Given the description of an element on the screen output the (x, y) to click on. 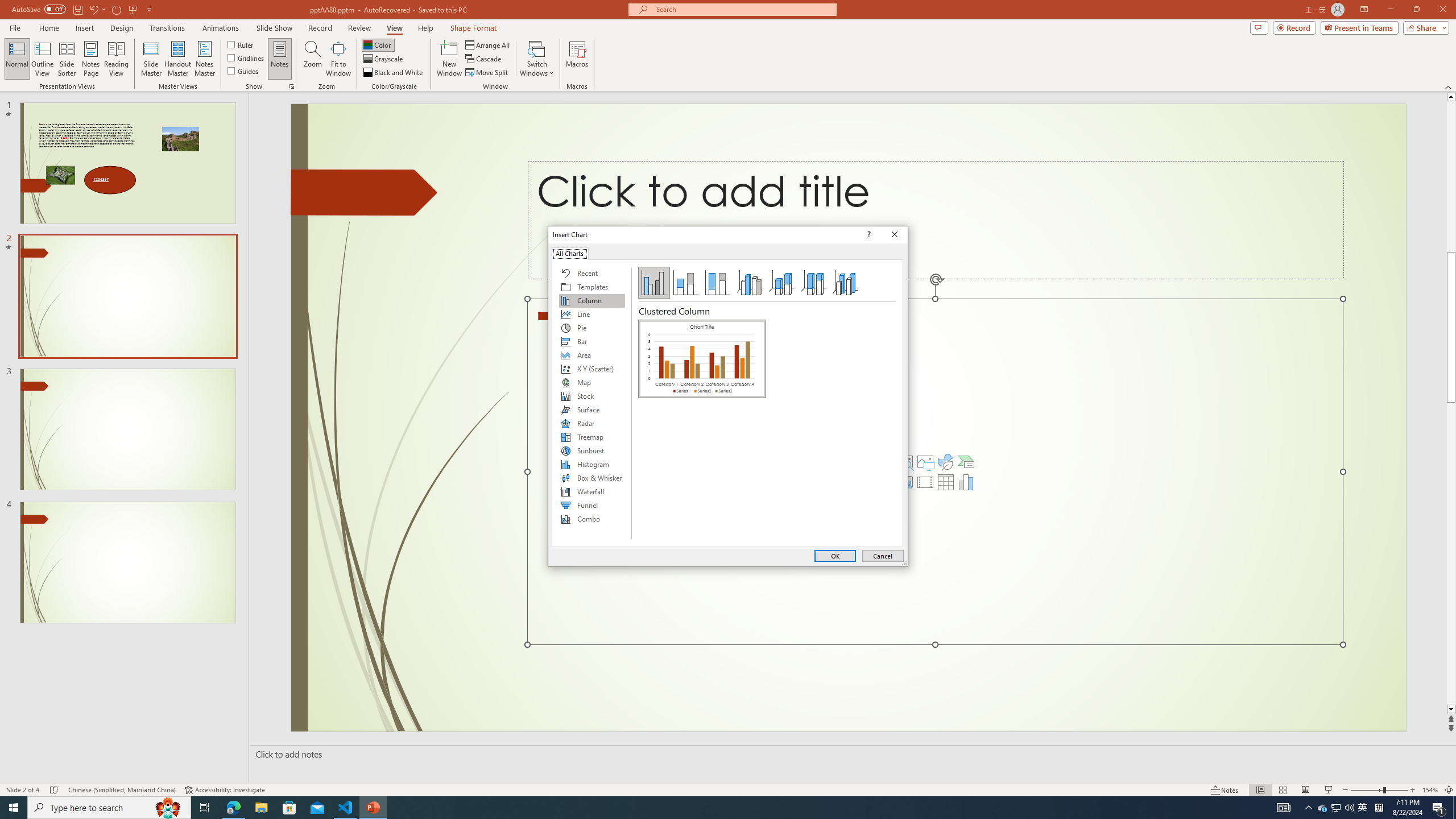
Zoom 154% (1430, 790)
Stacked Column (685, 282)
Insert Chart (965, 482)
Notes Page (90, 58)
New Window (449, 58)
Black and White (393, 72)
Guides (243, 69)
